Given the description of an element on the screen output the (x, y) to click on. 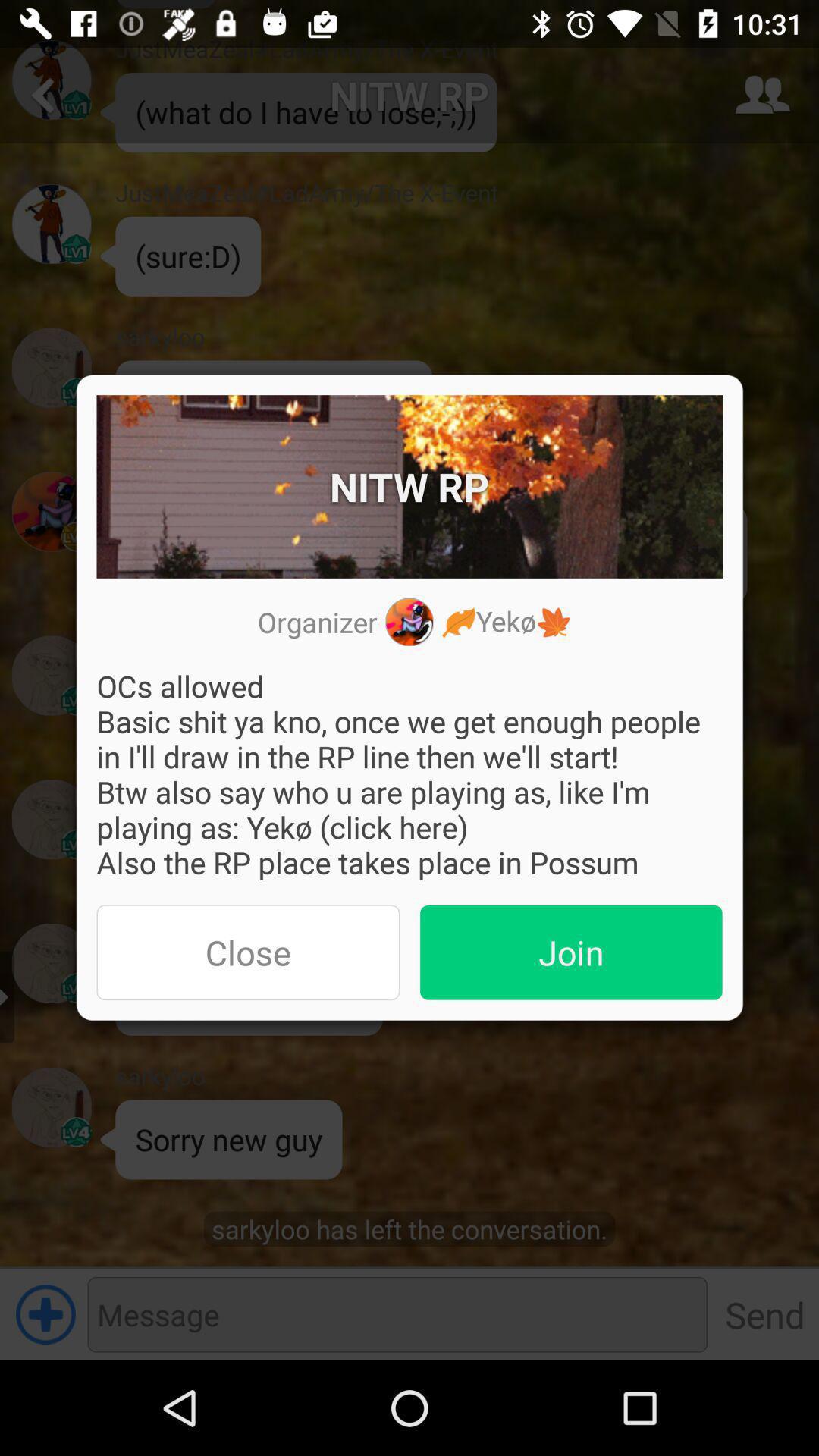
jump to the close button (247, 952)
